Given the description of an element on the screen output the (x, y) to click on. 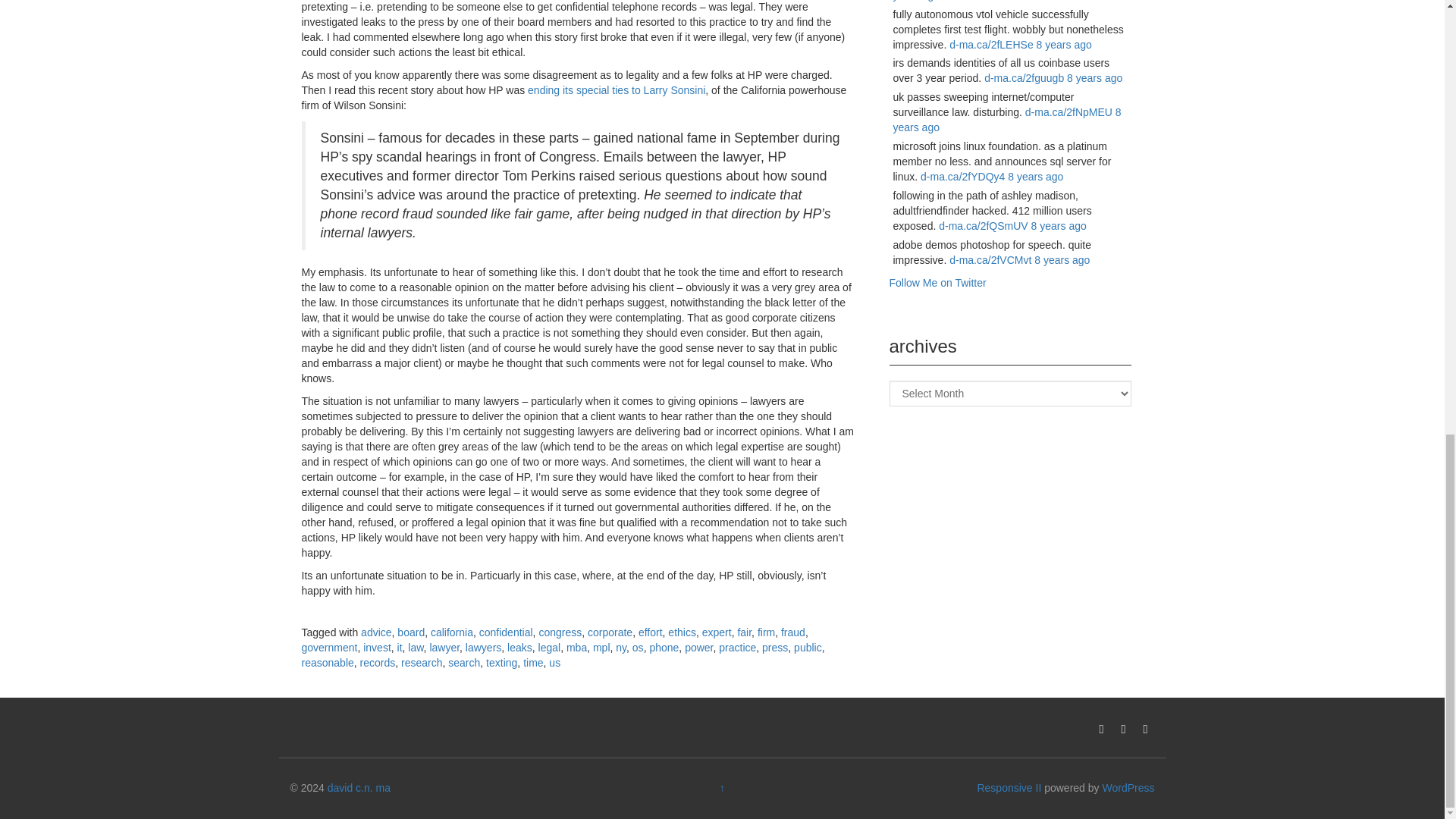
board (411, 632)
corporate (609, 632)
congress (559, 632)
advice (376, 632)
california (451, 632)
confidential (505, 632)
ending its special ties to Larry Sonsini (615, 90)
